Given the description of an element on the screen output the (x, y) to click on. 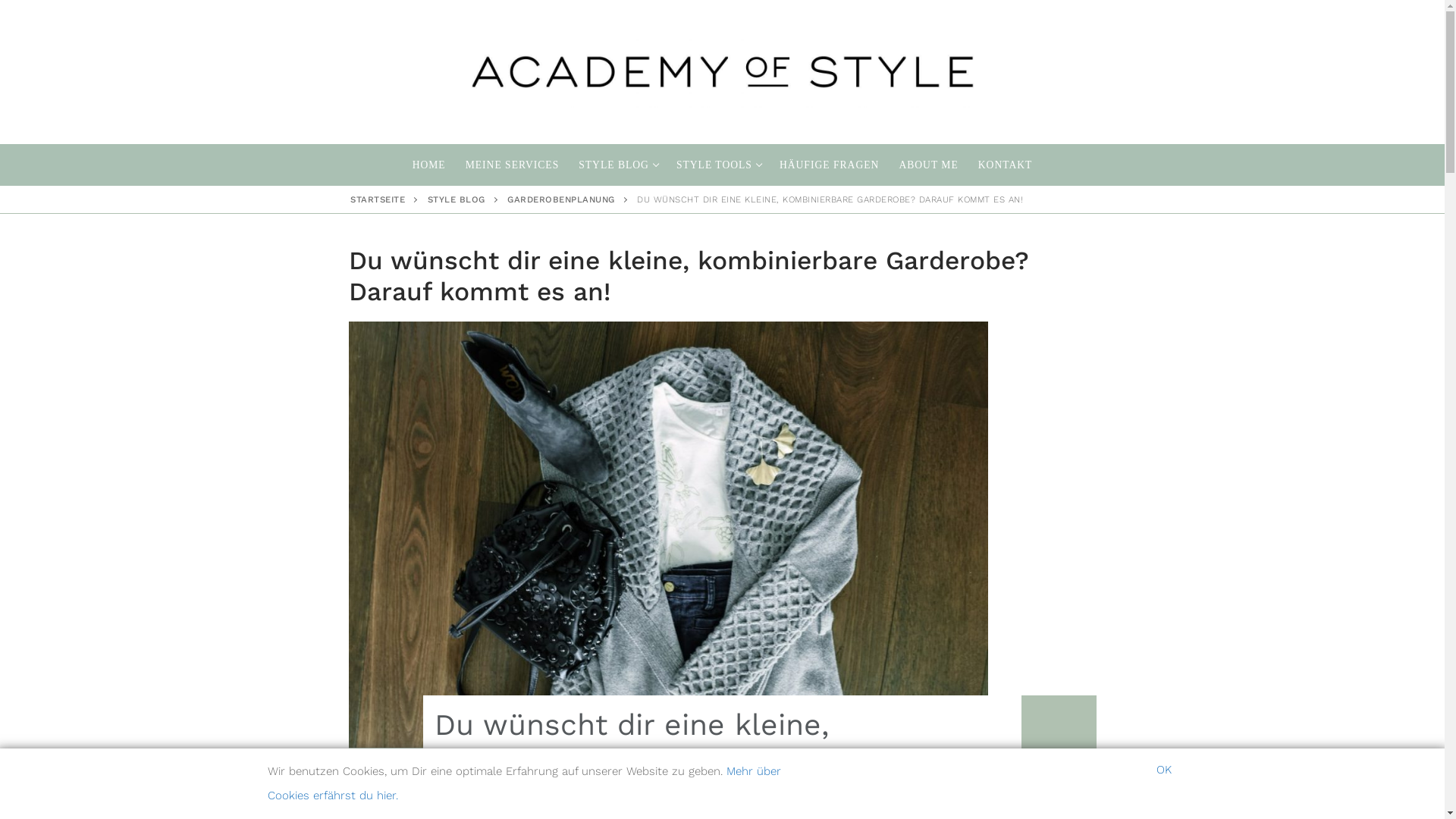
Skip to content Element type: text (0, 0)
STYLE BLOG
  Element type: text (617, 164)
STARTSEITE Element type: text (377, 199)
STYLE BLOG Element type: text (456, 199)
MEINE SERVICES Element type: text (512, 164)
OK Element type: text (1162, 769)
ABOUT ME Element type: text (927, 164)
GARDEROBENPLANUNG Element type: text (561, 199)
KONTAKT Element type: text (1005, 164)
HOME Element type: text (428, 164)
STYLE TOOLS
  Element type: text (717, 164)
